Given the description of an element on the screen output the (x, y) to click on. 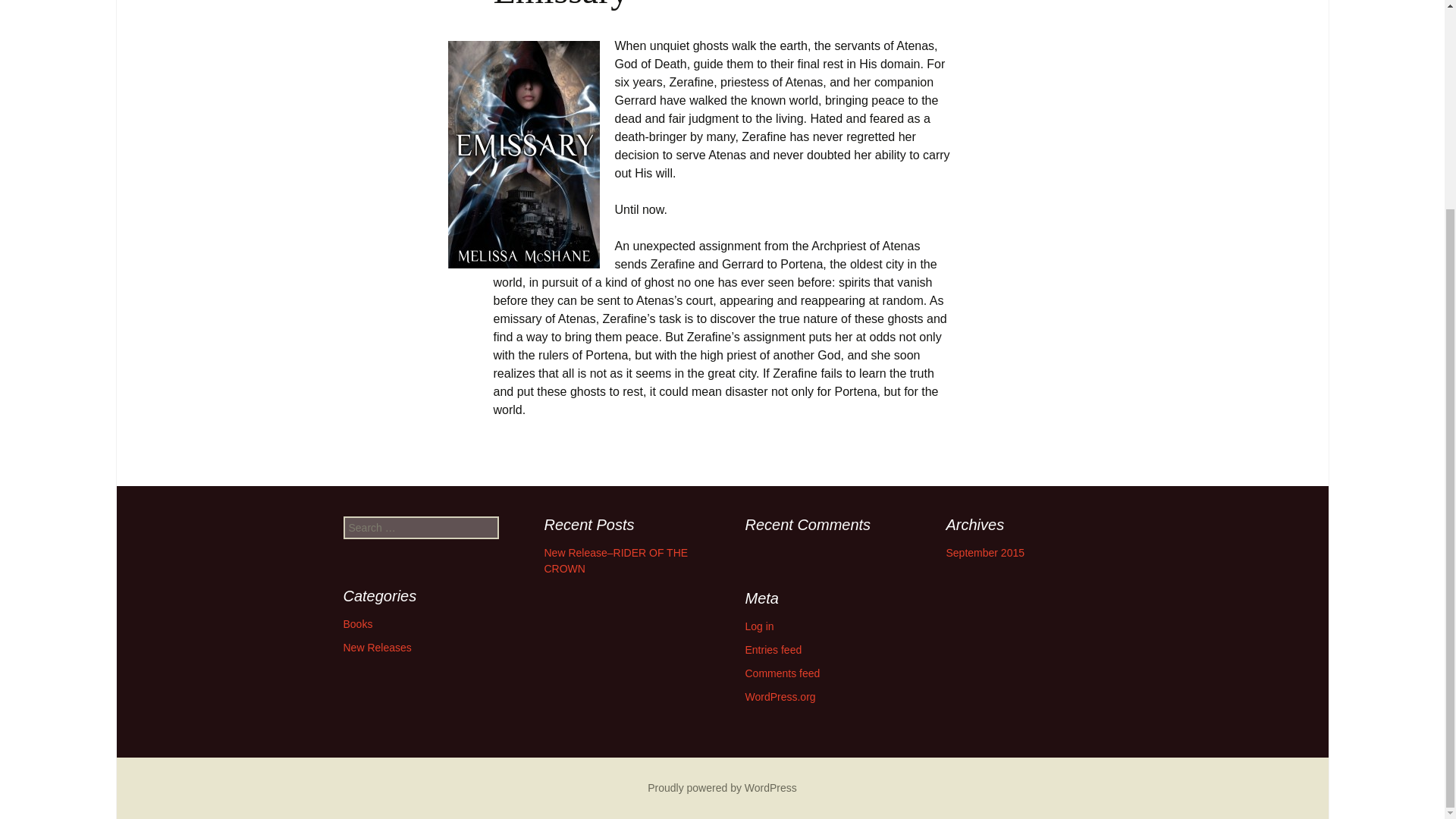
Proudly powered by WordPress (721, 787)
WordPress.org (779, 696)
Log in (758, 625)
New Releases (376, 647)
September 2015 (985, 552)
Books (357, 623)
Entries feed (773, 649)
Comments feed (781, 673)
